Given the description of an element on the screen output the (x, y) to click on. 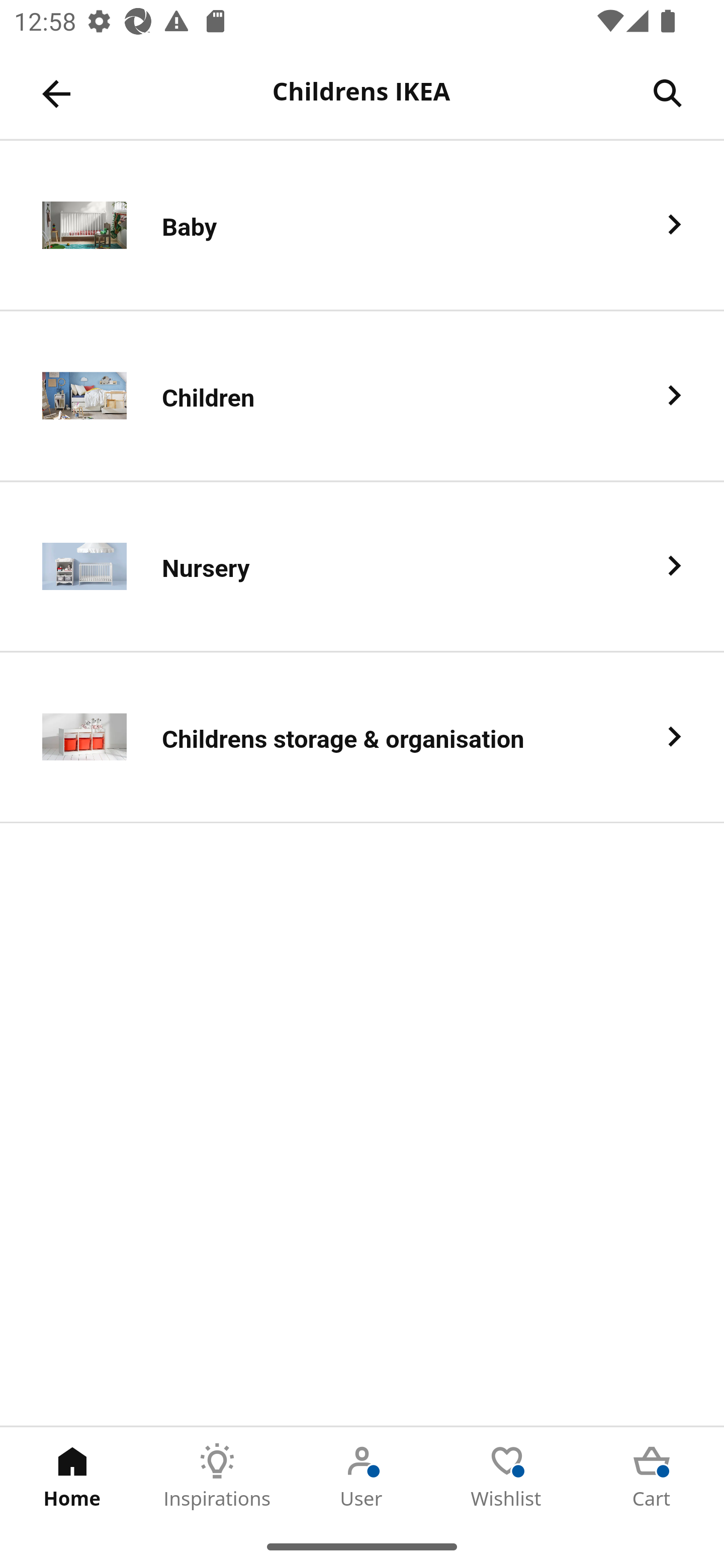
Baby (362, 226)
Children (362, 396)
Nursery (362, 566)
Childrens storage & organisation (362, 737)
Home
Tab 1 of 5 (72, 1476)
Inspirations
Tab 2 of 5 (216, 1476)
User
Tab 3 of 5 (361, 1476)
Wishlist
Tab 4 of 5 (506, 1476)
Cart
Tab 5 of 5 (651, 1476)
